Given the description of an element on the screen output the (x, y) to click on. 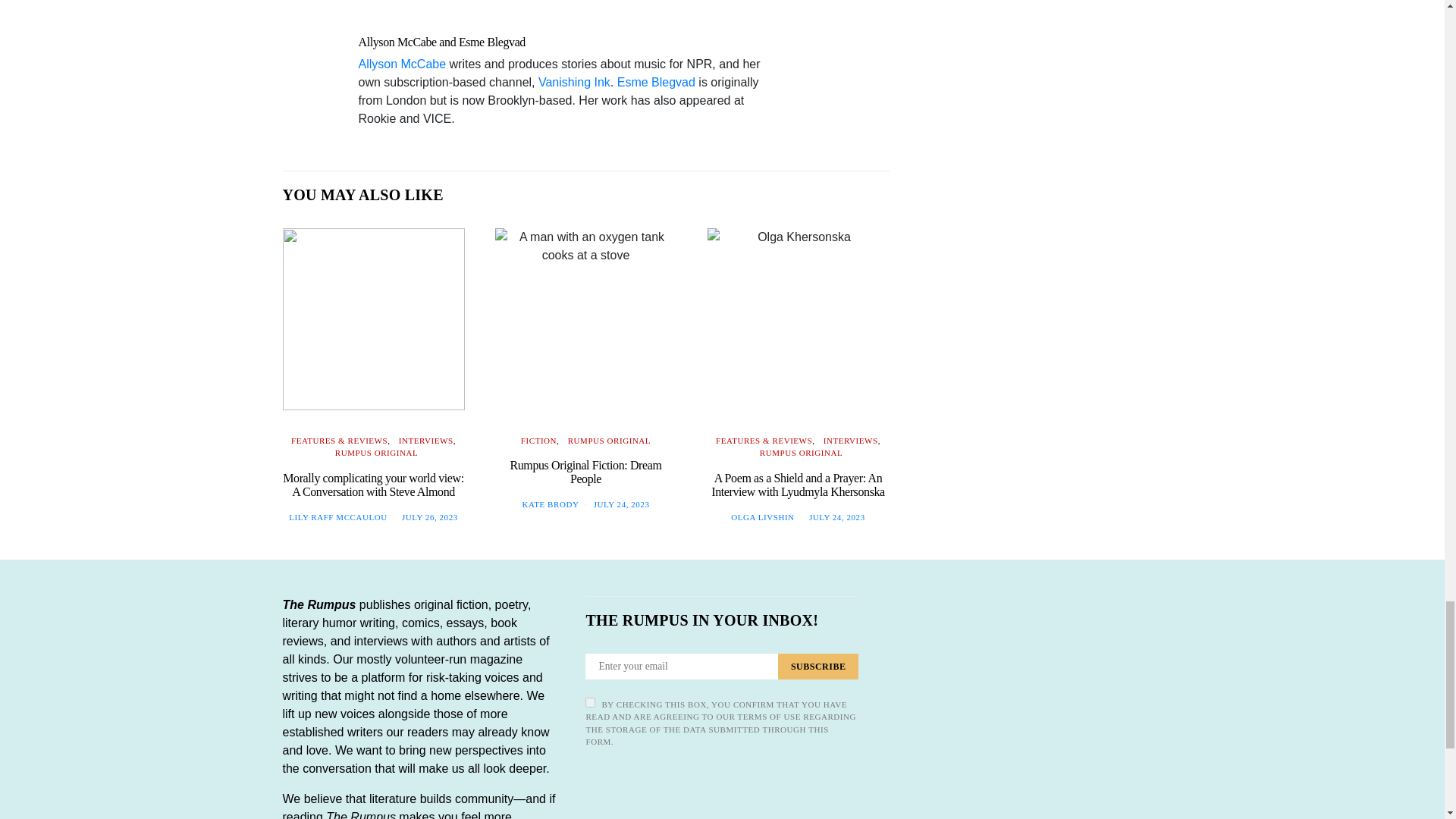
View all posts by Lily Raff McCaulou (337, 516)
View all posts by Olga Livshin (761, 516)
on (590, 702)
View all posts by Kate Brody (550, 503)
